Given the description of an element on the screen output the (x, y) to click on. 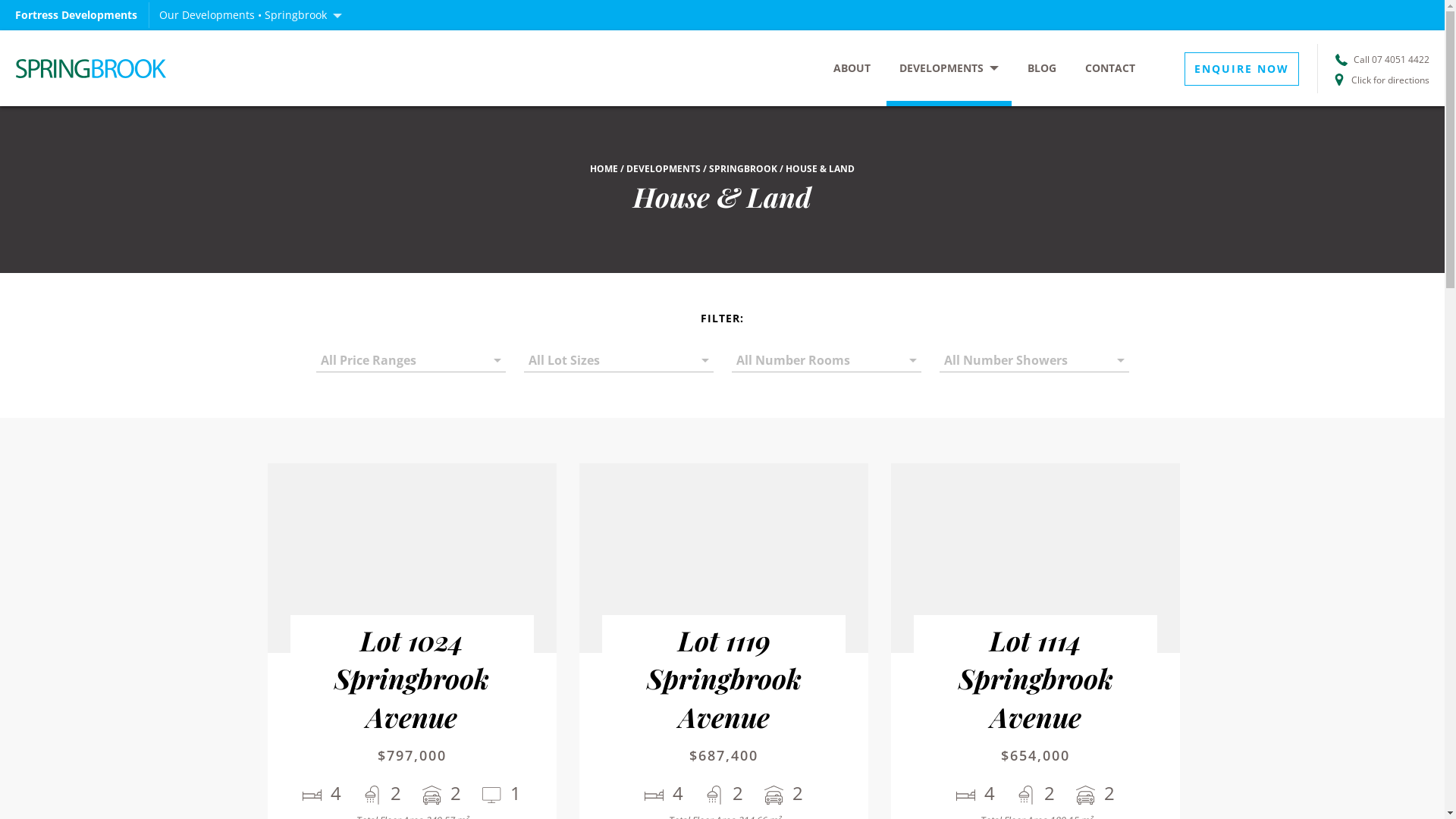
ABOUT Element type: text (851, 68)
Call 07 4051 4422 Element type: text (1381, 58)
HOME Element type: text (603, 168)
BLOG Element type: text (1041, 68)
ENQUIRE NOW Element type: text (1241, 68)
CONTACT Element type: text (1110, 68)
Fortress Developments Element type: text (82, 15)
Click for directions Element type: text (1381, 77)
DEVELOPMENTS Element type: text (663, 168)
DEVELOPMENTS Element type: text (948, 68)
SPRINGBROOK Element type: text (743, 168)
Fortress Developments Element type: hover (128, 68)
